Given the description of an element on the screen output the (x, y) to click on. 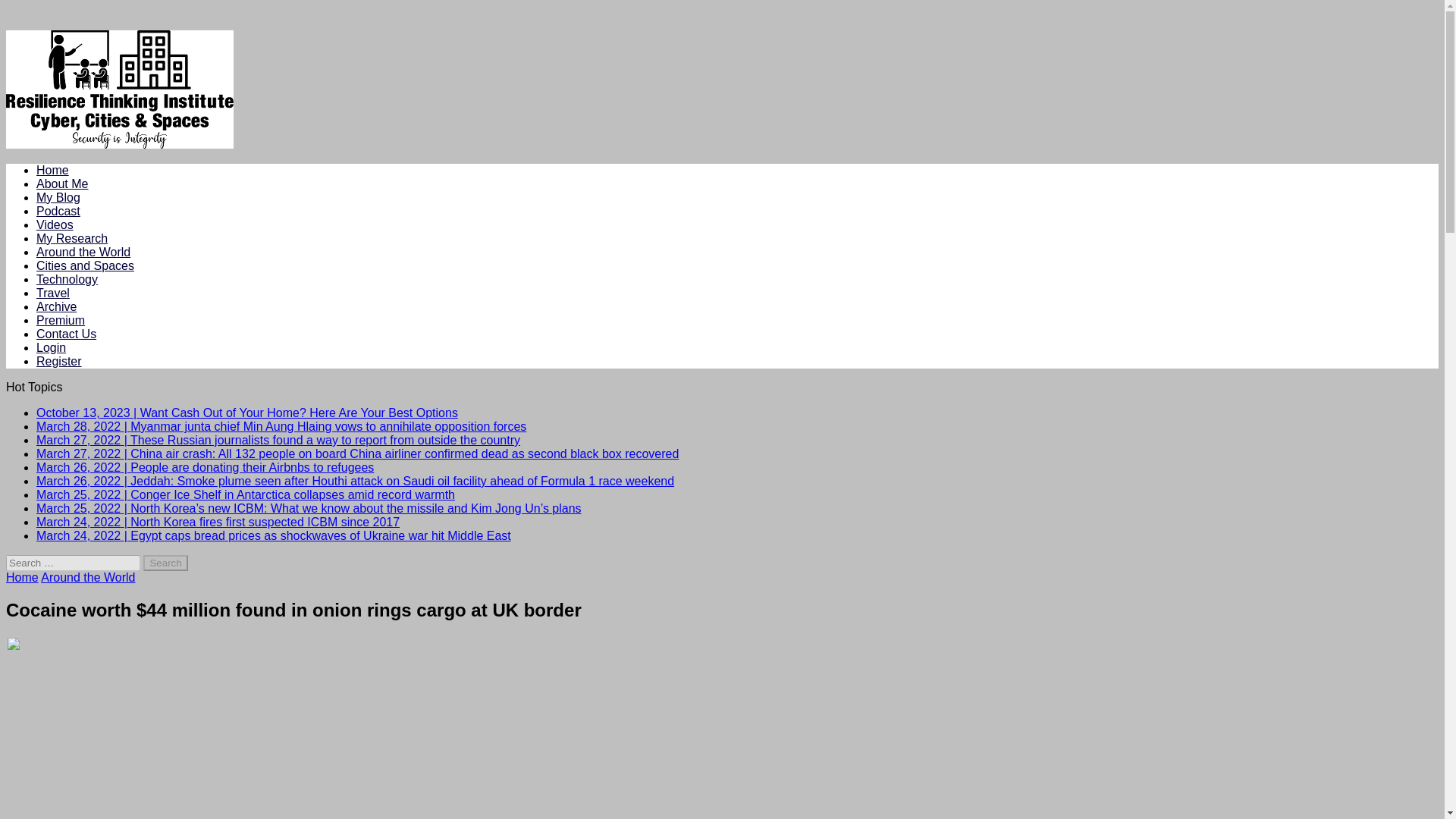
Home (22, 576)
Home (52, 169)
Travel (52, 292)
Podcast (58, 210)
My Blog (58, 196)
Around the World (83, 251)
Register (58, 360)
Search (164, 562)
Premium (60, 319)
Technology (66, 278)
